Given the description of an element on the screen output the (x, y) to click on. 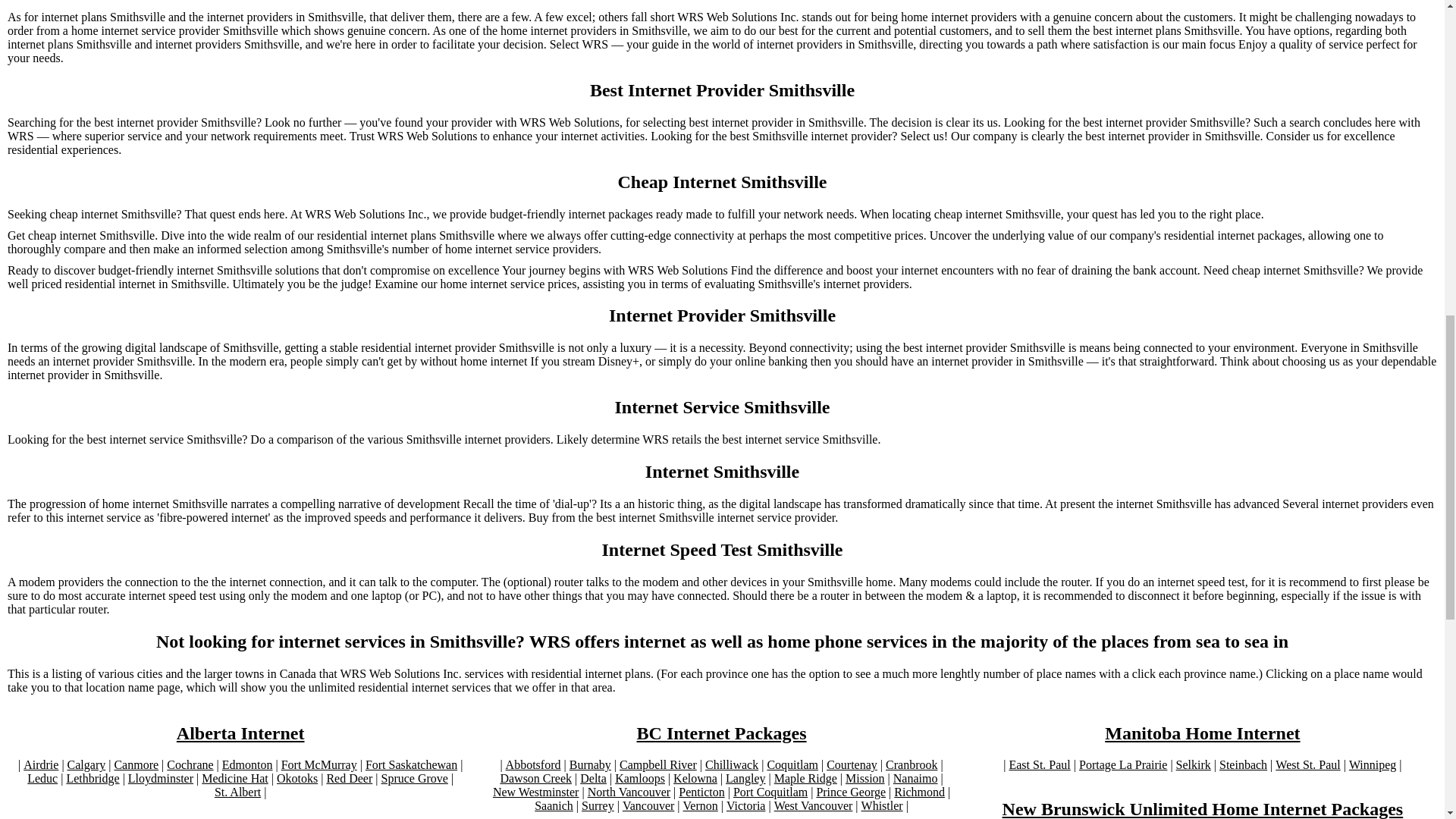
Campbell River (658, 765)
Abbotsford (532, 765)
Okotoks (296, 778)
Fort Saskatchewan (411, 765)
Canmore (135, 765)
Medicine Hat (234, 778)
Leduc (42, 778)
Airdrie (40, 765)
Cochrane (189, 765)
Chilliwack (731, 765)
